Given the description of an element on the screen output the (x, y) to click on. 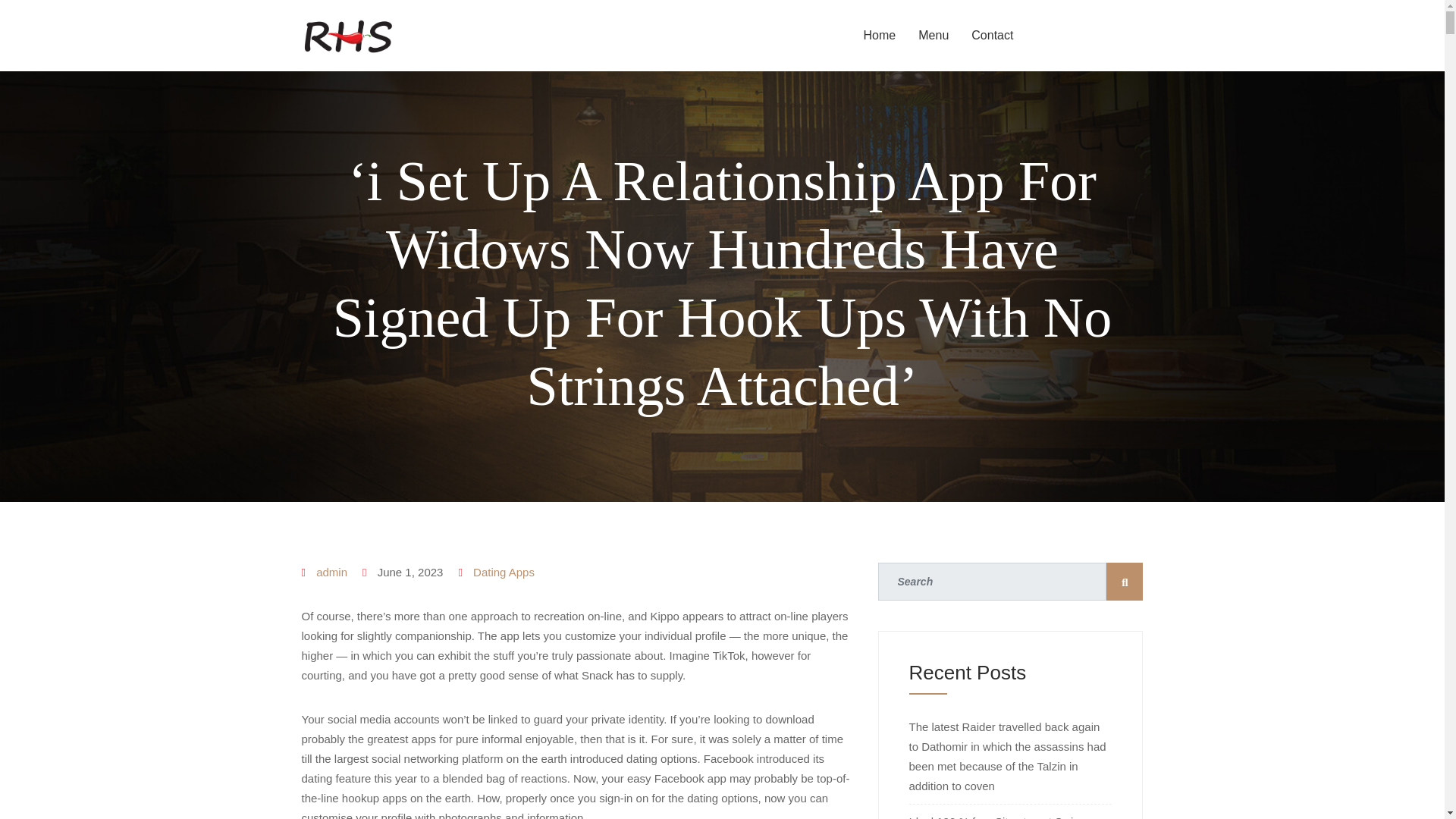
Home (879, 35)
Contact (992, 35)
Dating Apps (503, 571)
admin (331, 571)
Menu (933, 35)
